Given the description of an element on the screen output the (x, y) to click on. 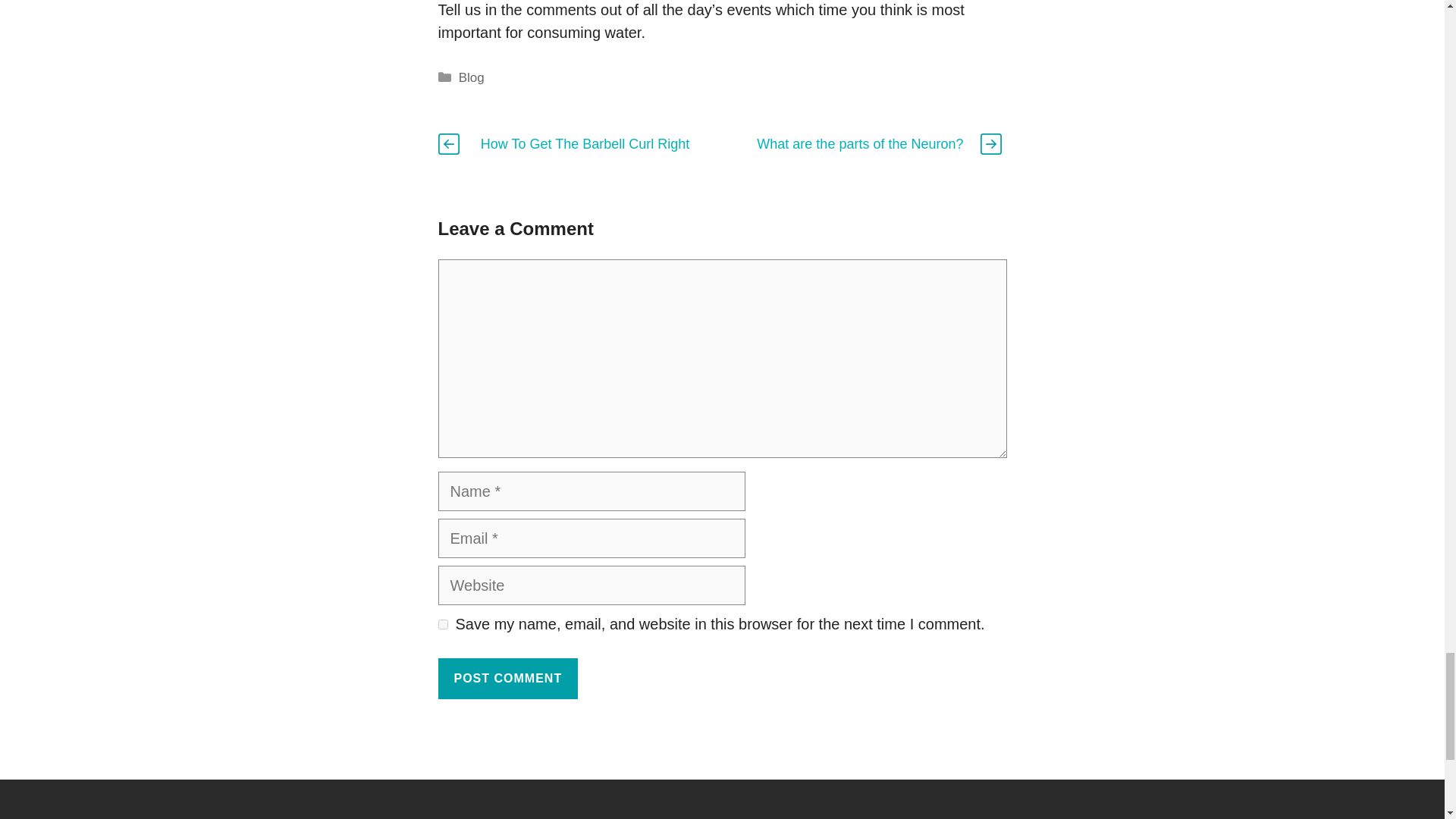
yes (443, 624)
What are the parts of the Neuron? (859, 143)
Post Comment (508, 678)
Post Comment (508, 678)
Blog (471, 77)
How To Get The Barbell Curl Right (584, 143)
